Given the description of an element on the screen output the (x, y) to click on. 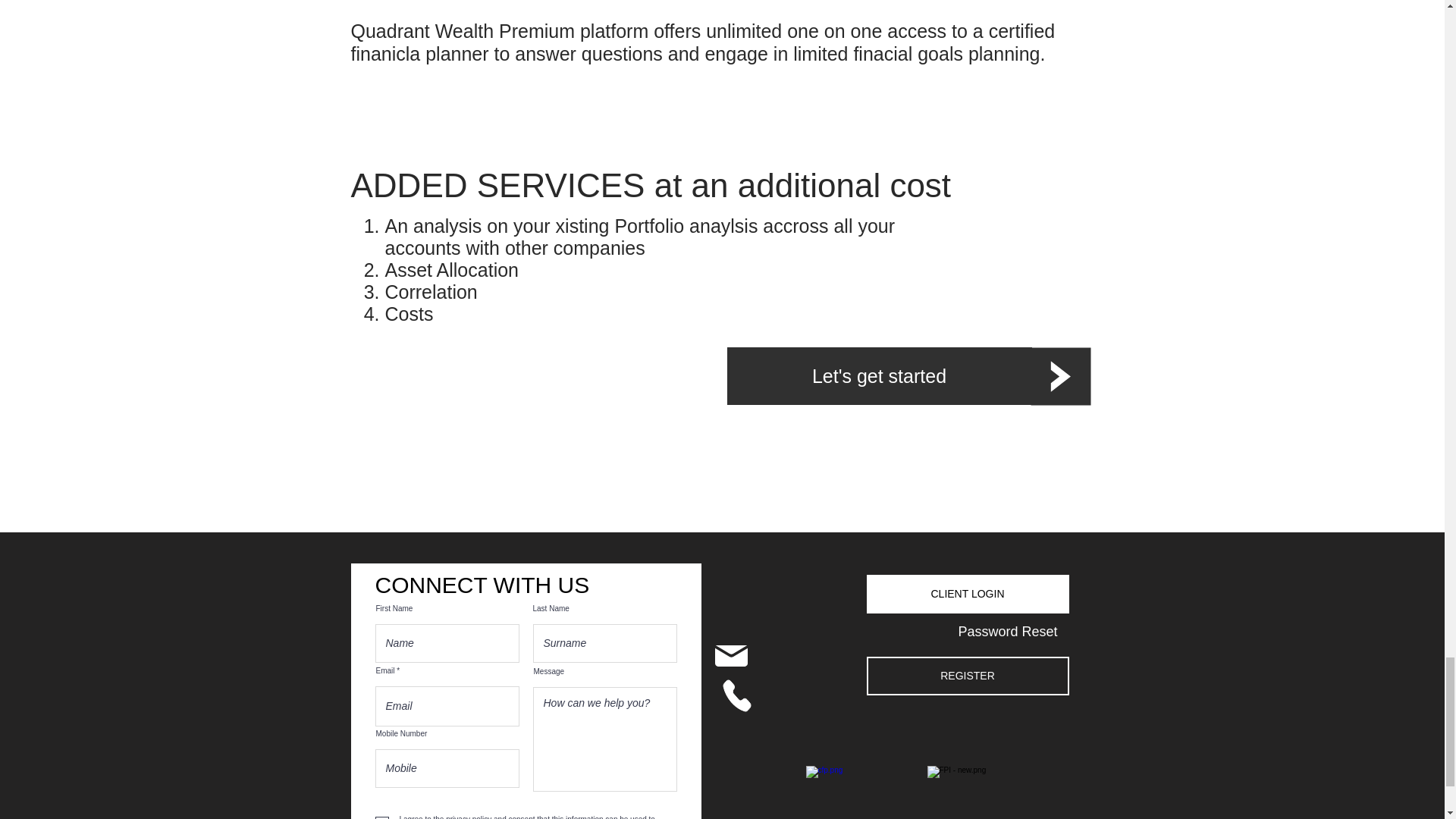
Password Reset (1007, 631)
Let's get started (878, 375)
REGISTER (967, 675)
CLIENT LOGIN (967, 593)
